Given the description of an element on the screen output the (x, y) to click on. 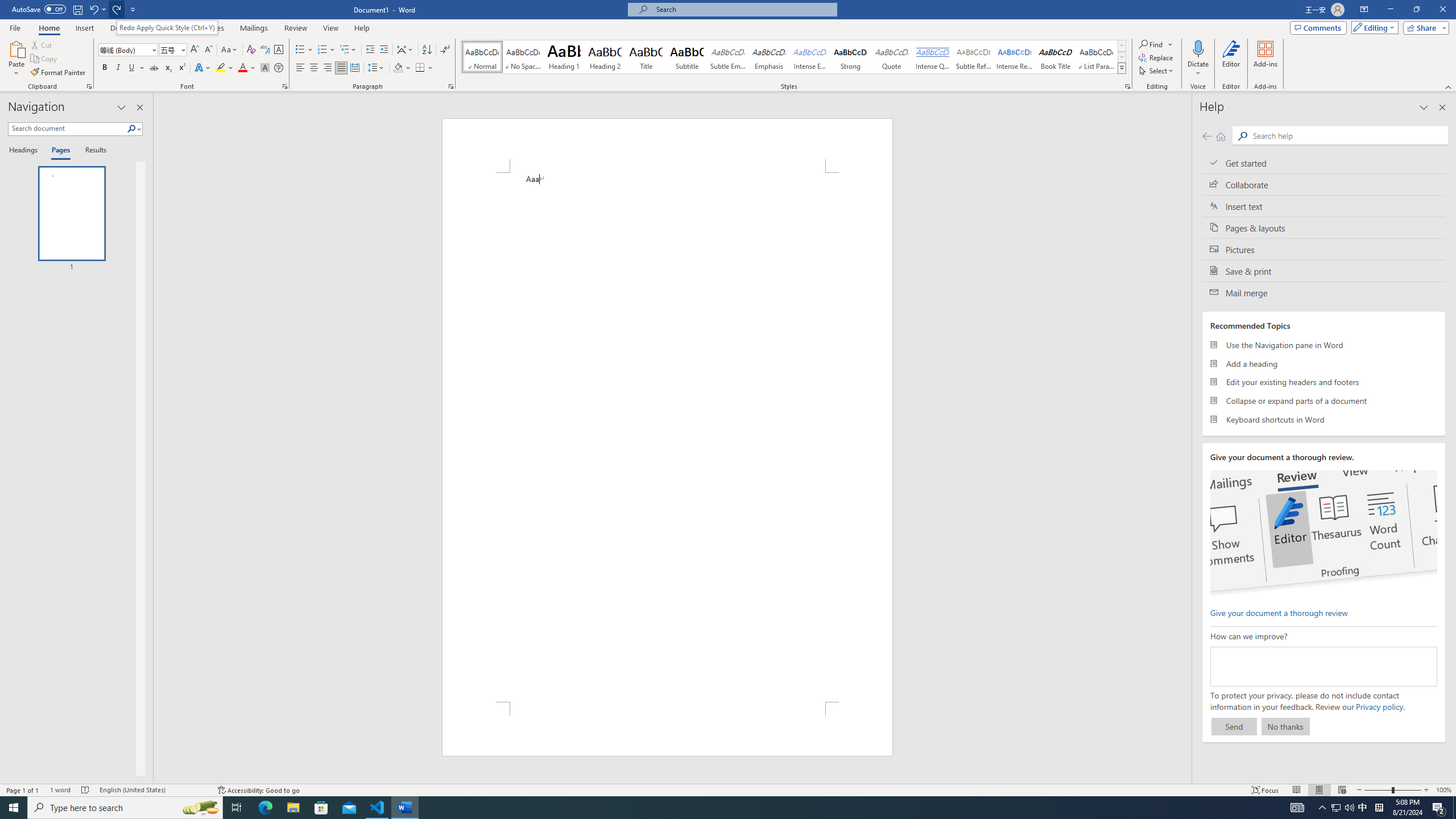
Redo Apply Quick Style (Ctrl+Y) (167, 27)
Title (646, 56)
